Given the description of an element on the screen output the (x, y) to click on. 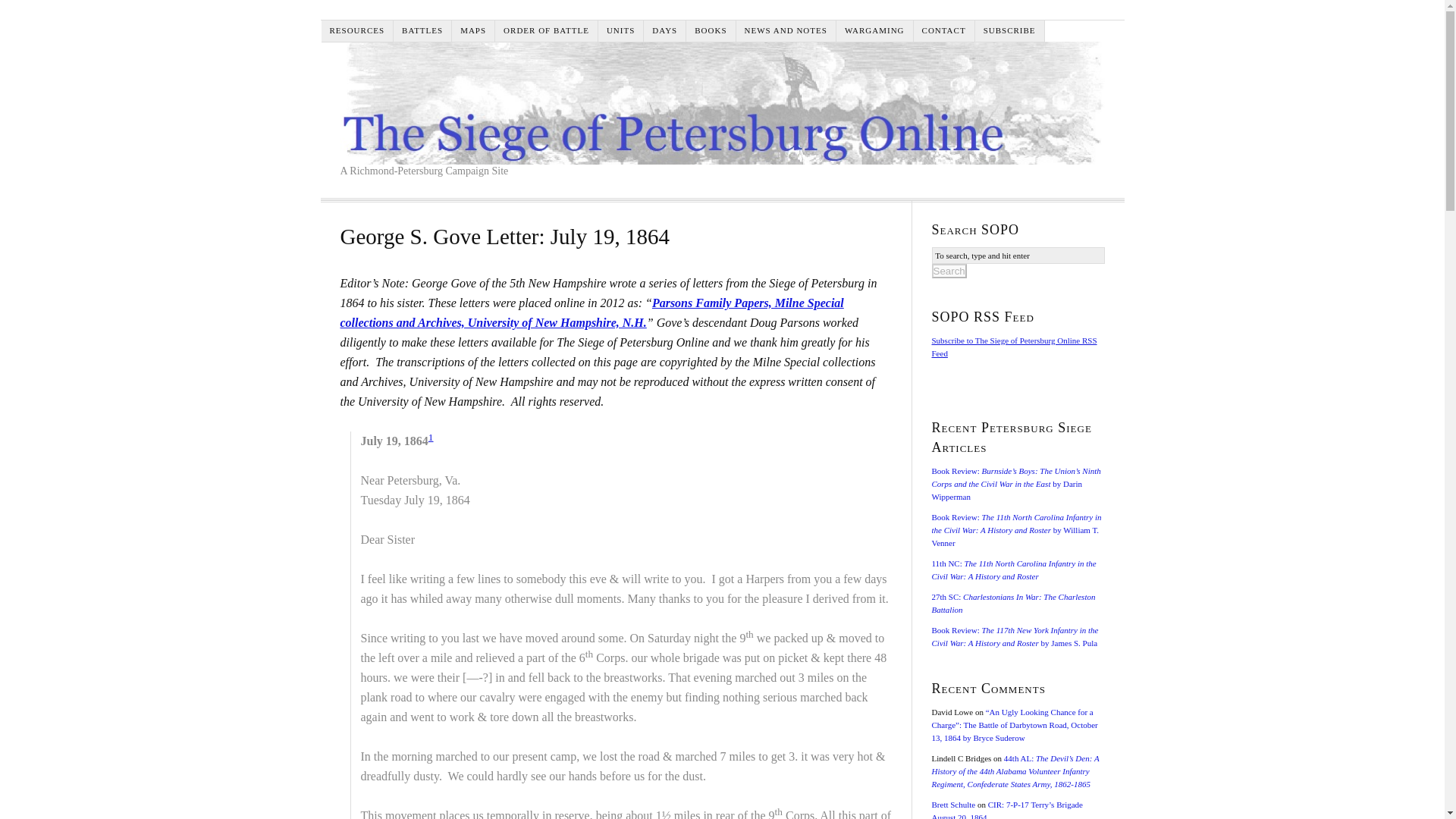
RESOURCES (357, 30)
MAPS (473, 30)
BATTLES (422, 30)
To search, type and hit enter (1017, 255)
Search (948, 270)
